Given the description of an element on the screen output the (x, y) to click on. 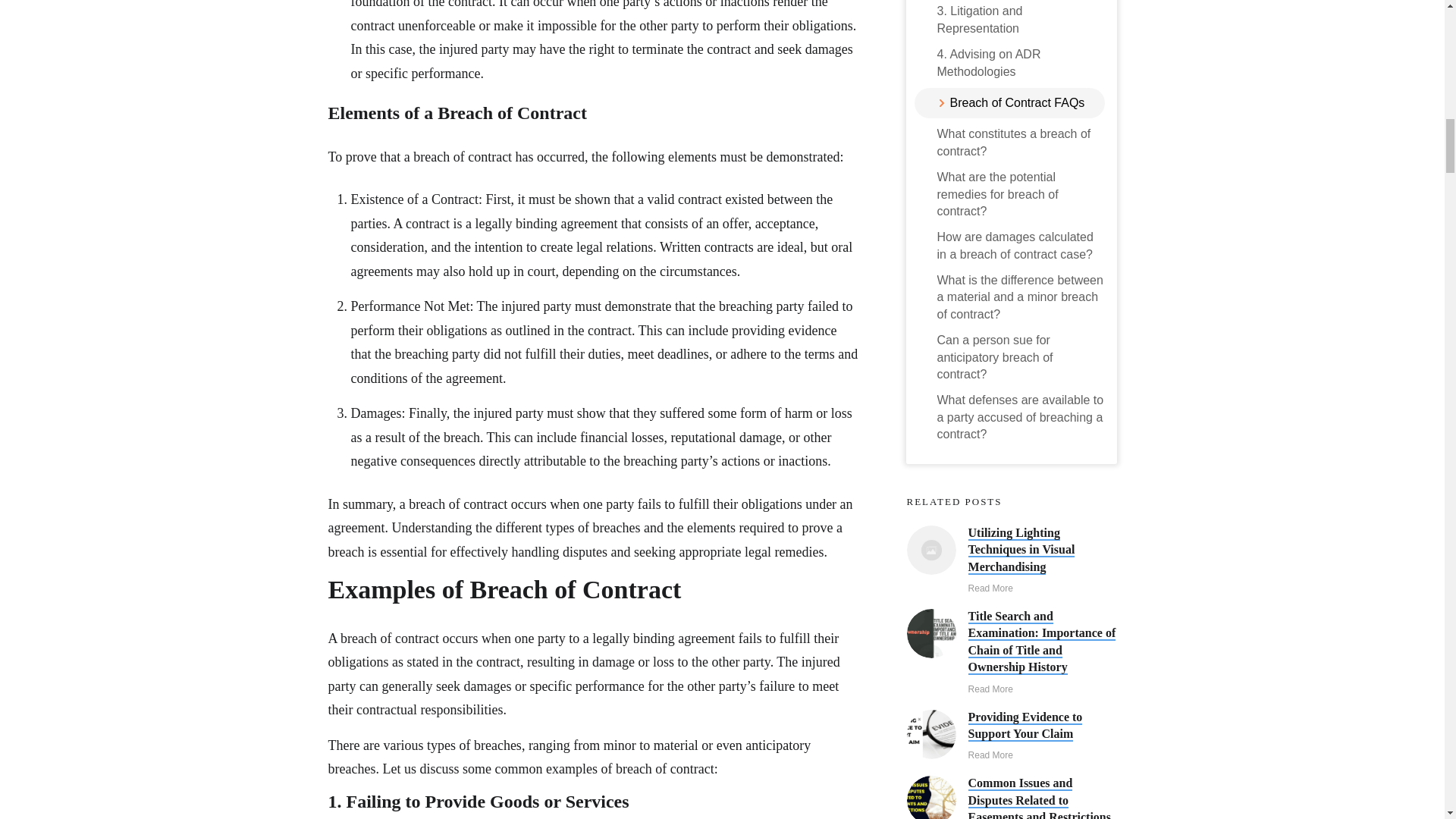
4. Advising on ADR Methodologies (1021, 62)
3. Litigation and Representation (1021, 19)
Providing Evidence to Support Your Claim (1025, 726)
What constitutes a breach of contract? (1021, 142)
Can a person sue for anticipatory breach of contract? (1021, 357)
What are the potential remedies for breach of contract? (1021, 194)
How are damages calculated in a breach of contract case? (1021, 245)
